Given the description of an element on the screen output the (x, y) to click on. 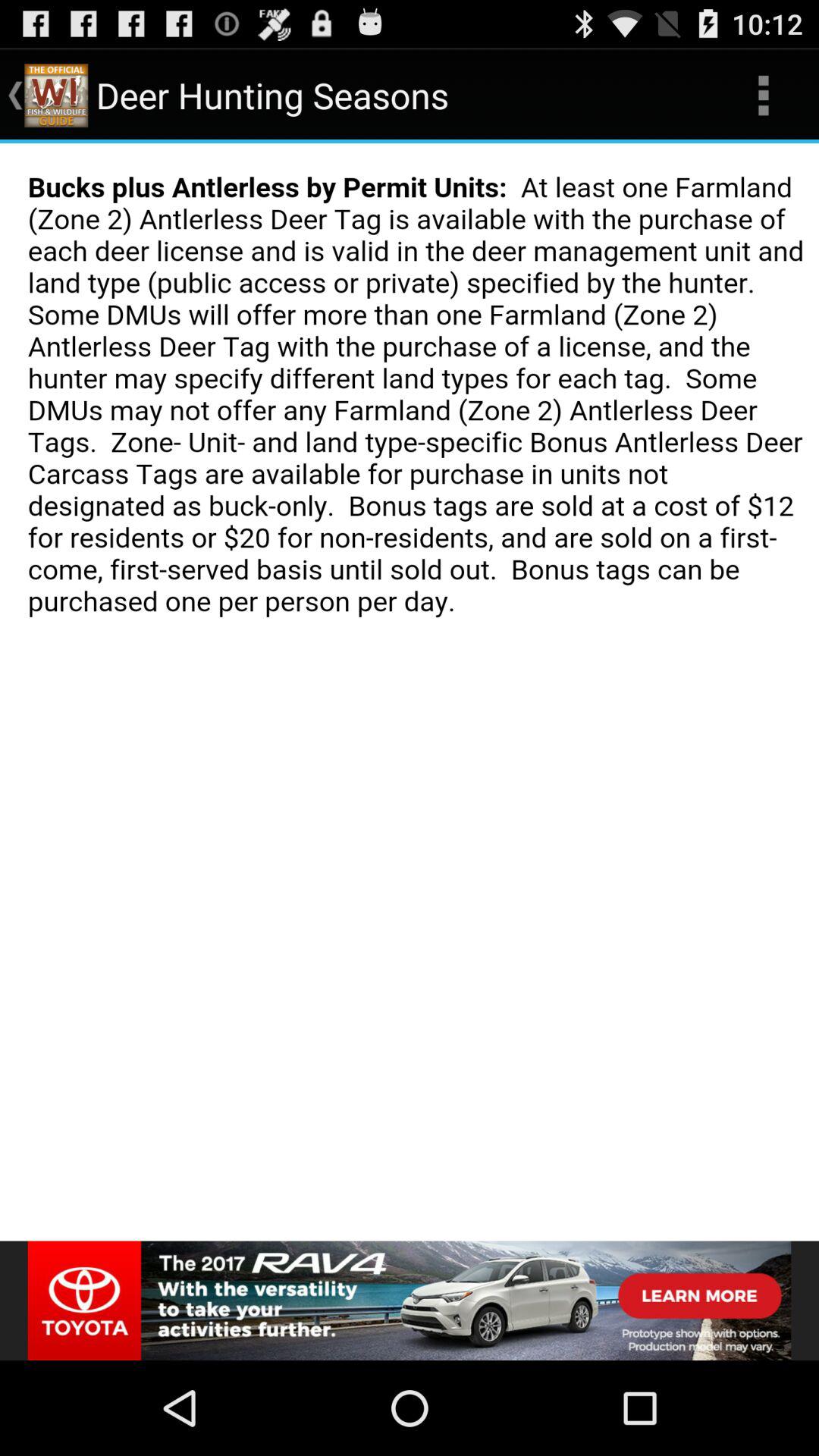
more information about an advertisement (409, 1300)
